Given the description of an element on the screen output the (x, y) to click on. 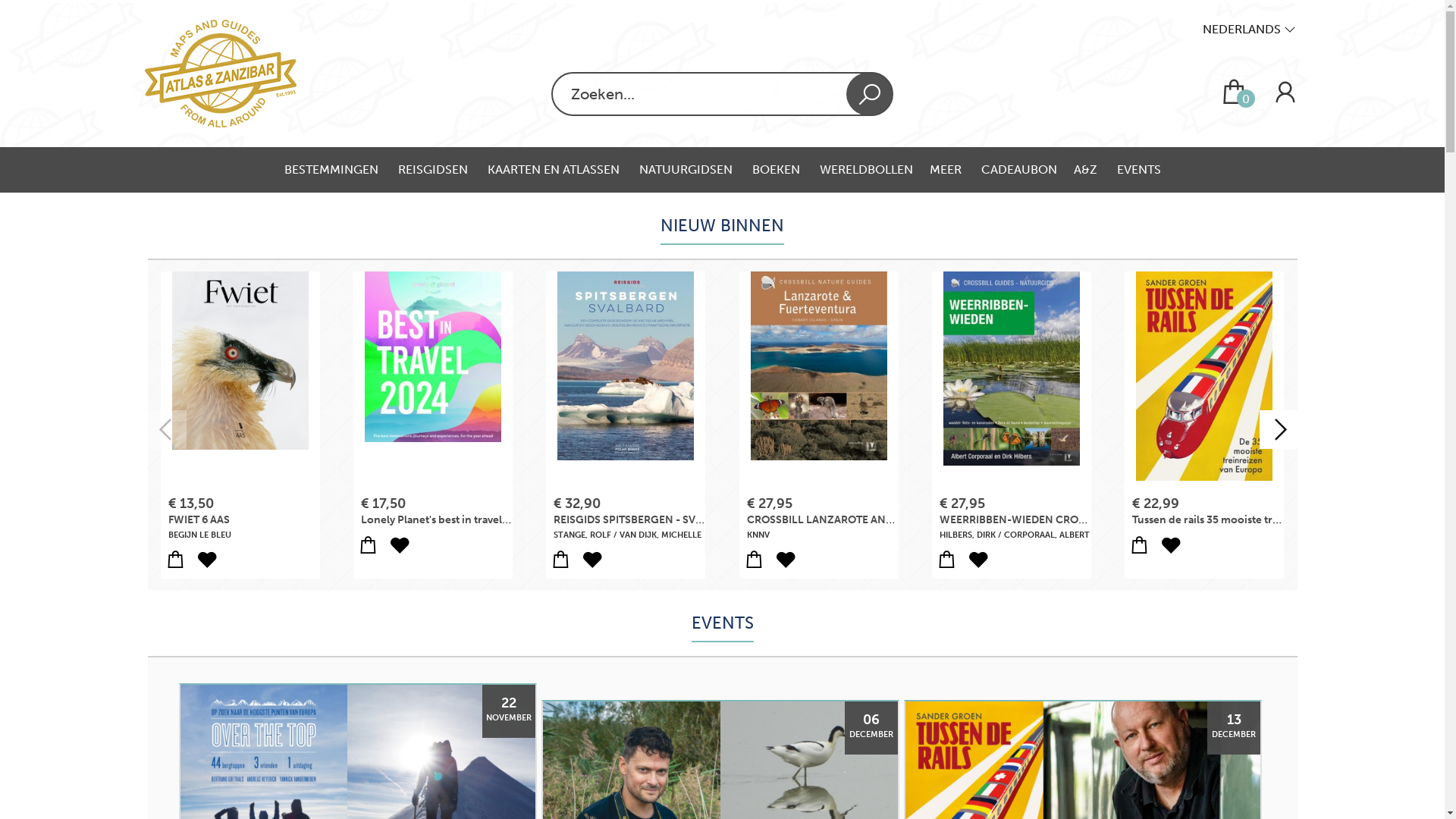
KAARTEN EN ATLASSEN  Element type: text (553, 169)
Voeg toe aan mijn winkelmandje Element type: hover (945, 559)
WERELDBOLLEN Element type: text (865, 170)
BESTEMMINGEN  Element type: text (331, 169)
REISGIDS SPITSBERGEN - SVALBARD  Element type: hover (625, 383)
Voeg toe aan mijn winkelmandje Element type: hover (753, 559)
Voeg toe aan mijn winkelmandje Element type: hover (174, 559)
Tussen de rails 35 mooiste treinreizen Europa Element type: text (1245, 518)
CADEAUBON Element type: text (1019, 170)
FWIET 6 AAS  Element type: hover (240, 383)
REISGIDS SPITSBERGEN - SVALBARD Element type: text (644, 518)
Voeg toe aan mijn winkelmandje Element type: hover (367, 544)
WEERRIBBEN-WIEDEN CROSSBILL Element type: text (1025, 518)
CROSSBILL LANZAROTE AND FUERTEVENTURA  Element type: hover (818, 383)
CROSSBILL LANZAROTE AND FUERTEVENTURA Element type: text (864, 518)
Lonely Planet's best in travel 2024  Element type: hover (432, 383)
REISGIDSEN  Element type: text (433, 169)
NATUURGIDSEN  Element type: text (686, 169)
BOEKEN  Element type: text (777, 169)
A&Z  Element type: text (1086, 169)
Lonely Planet's best in travel 2024 Element type: text (445, 518)
NEDERLANDS  Element type: text (1248, 27)
NIEUW BINNEN Element type: text (722, 225)
Tussen de rails 35 mooiste treinreizen Europa  Element type: hover (1203, 383)
FWIET 6 AAS Element type: text (198, 519)
Voeg toe aan mijn winkelmandje Element type: hover (560, 559)
EVENTS Element type: text (1138, 170)
MEER  Element type: text (946, 169)
WEERRIBBEN-WIEDEN CROSSBILL  Element type: hover (1011, 383)
Voeg toe aan mijn winkelmandje Element type: hover (1138, 544)
EVENTS Element type: text (722, 622)
0 Element type: text (1245, 98)
